Given the description of an element on the screen output the (x, y) to click on. 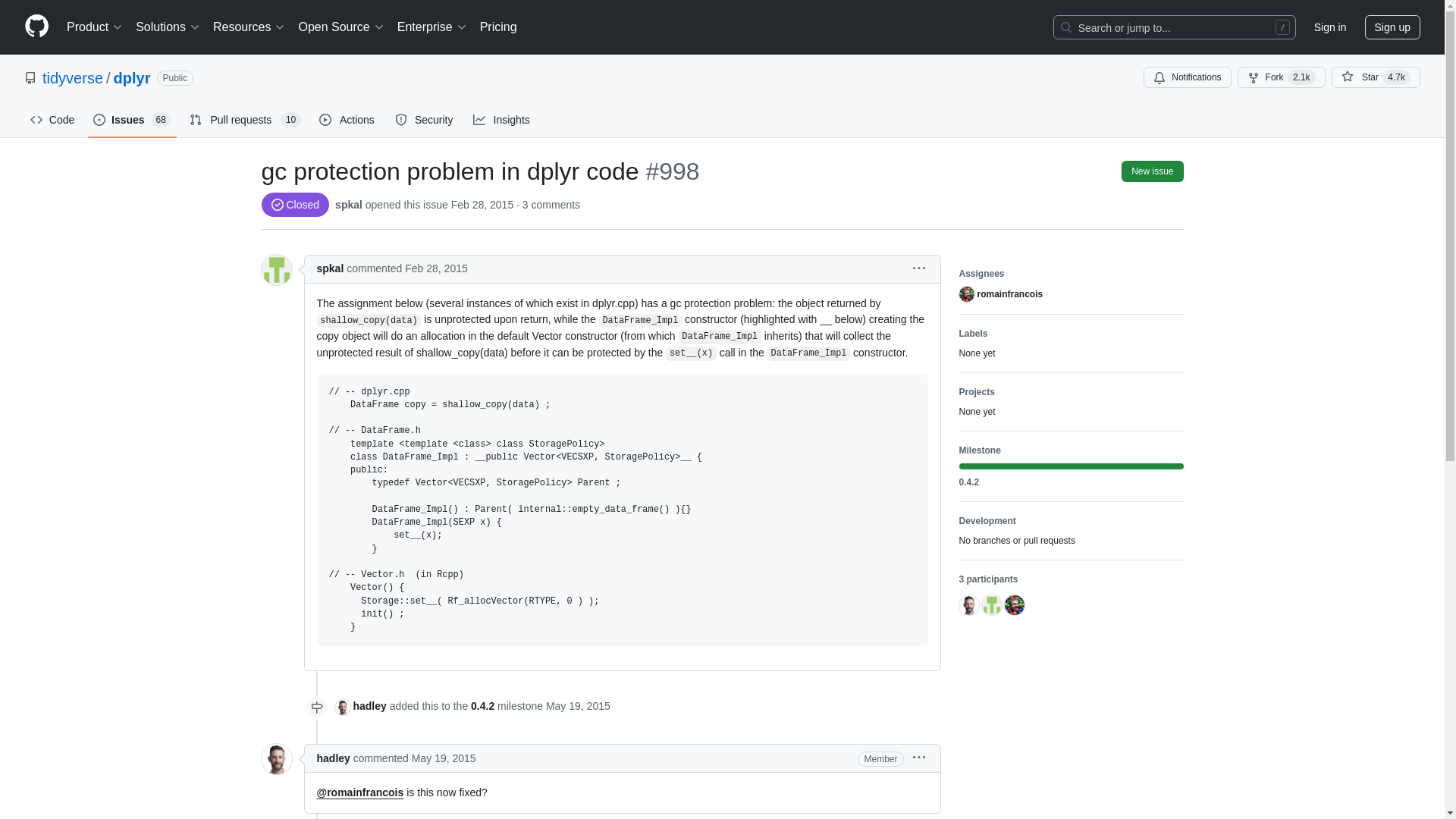
Solutions (167, 27)
Open Source (341, 27)
0.4.2 (1070, 481)
Product (95, 27)
68 (161, 119)
10 (291, 119)
2,119 (1301, 77)
Status: Closed (294, 204)
Resources (249, 27)
